Given the description of an element on the screen output the (x, y) to click on. 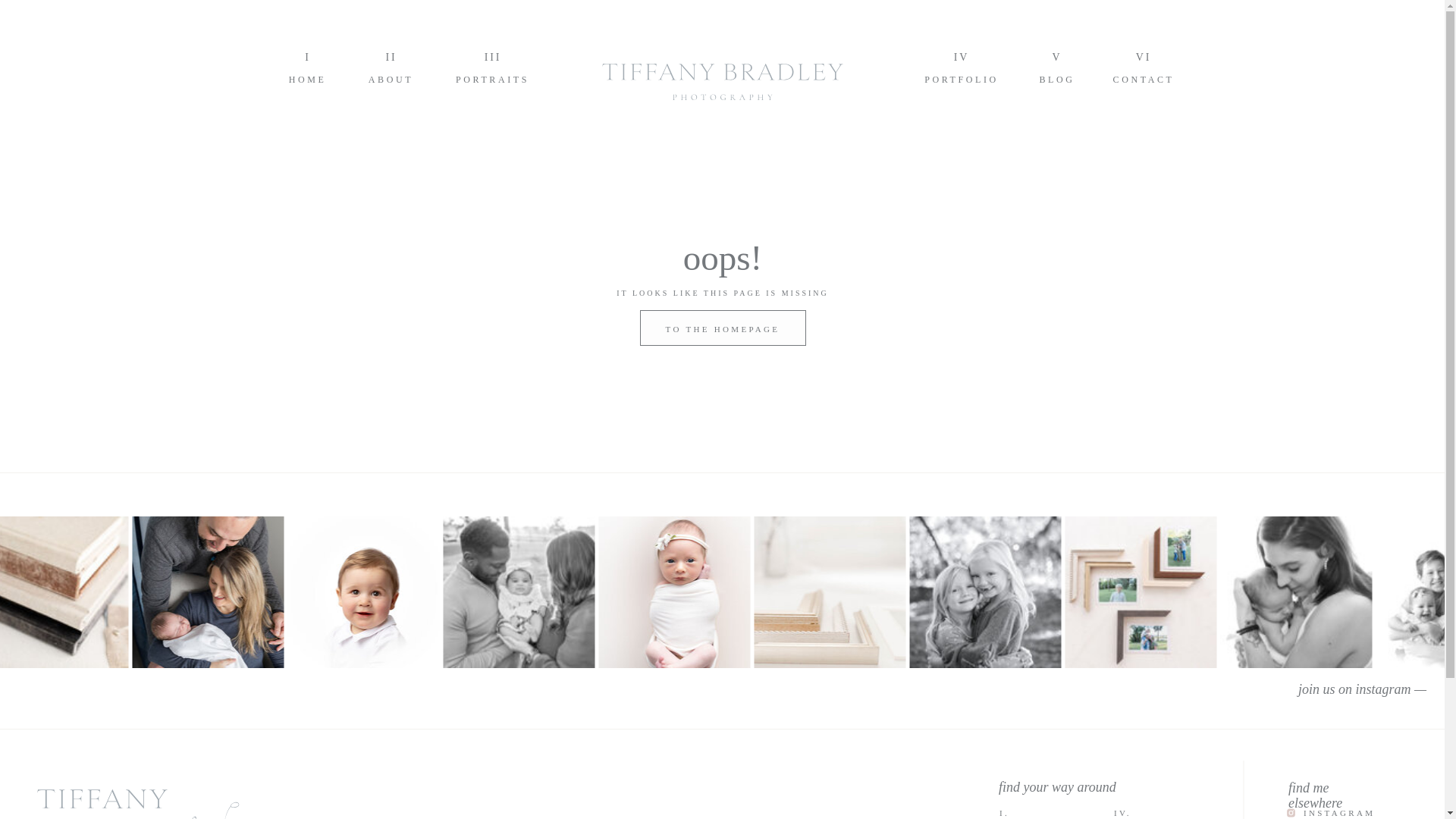
savannah-ga-newborn-photography-11 (1295, 592)
savannah-ga-childrens-photographer (984, 592)
ABOUT (391, 78)
find your way around (1083, 786)
III (491, 55)
INSTAGRAM (1349, 812)
PORTRAITS (491, 78)
heirloom-baby-photographer-savannah-ga-1 (362, 592)
PORTFOLIO (961, 78)
BLOG (1056, 78)
CONTACT (1143, 78)
IV. PORTFOLIO (1158, 812)
HOME (307, 78)
outdoor-baby-session-savannah-georgia-2.jpg (518, 592)
frame-options-savannah-family-portraits (1139, 592)
